Given the description of an element on the screen output the (x, y) to click on. 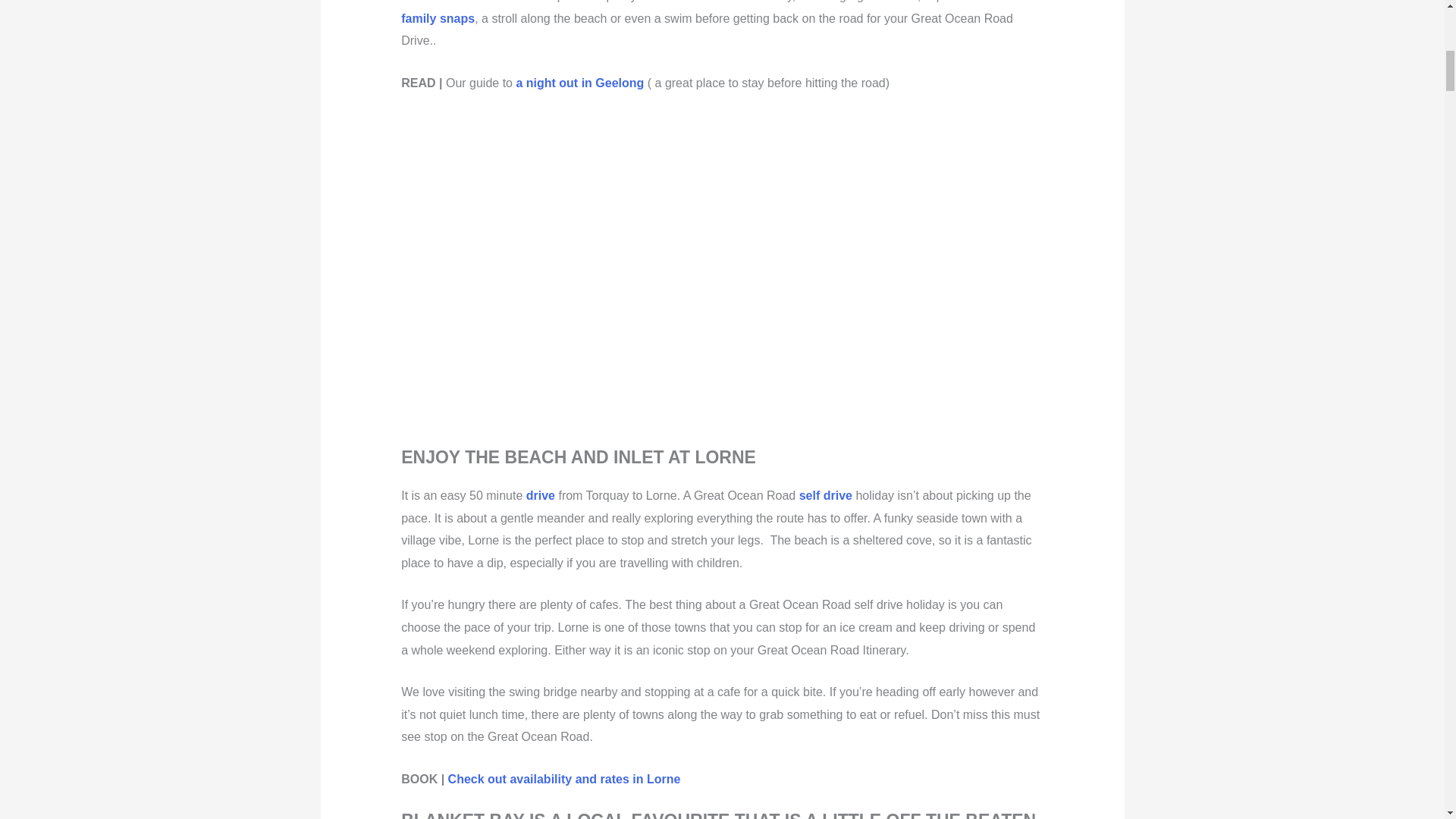
a night out in Geelong (579, 82)
Check out availability and rates in Lorne (564, 779)
The Best Great Ocean Road Itinerary 3 (673, 273)
self drive (825, 495)
family snaps (437, 18)
drive (539, 495)
